Given the description of an element on the screen output the (x, y) to click on. 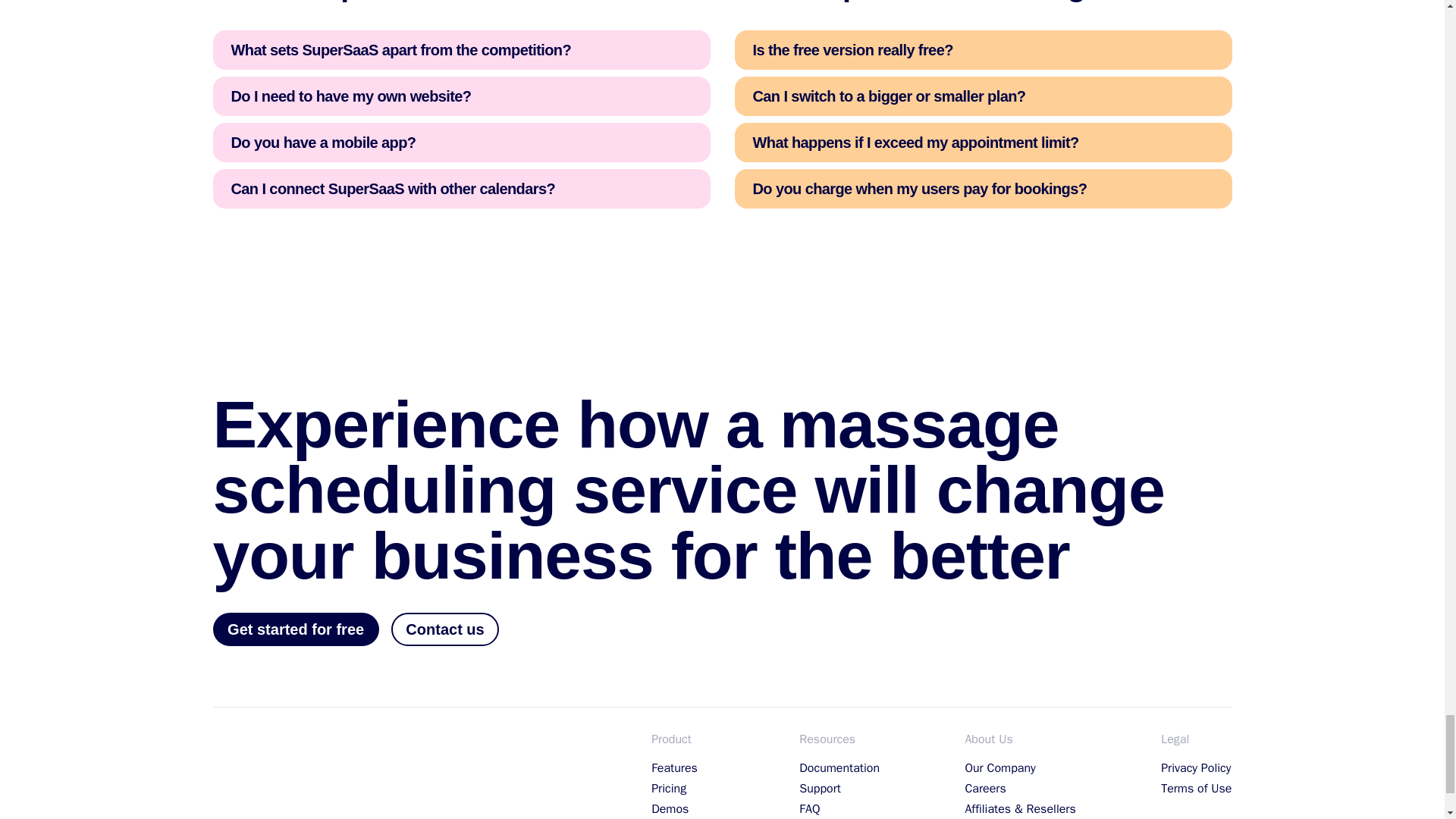
Get started for free (295, 629)
Contact us (445, 629)
Support (839, 788)
Documentation (839, 768)
Pricing (682, 788)
FAQ (839, 809)
Features (682, 768)
Demos (682, 809)
